Given the description of an element on the screen output the (x, y) to click on. 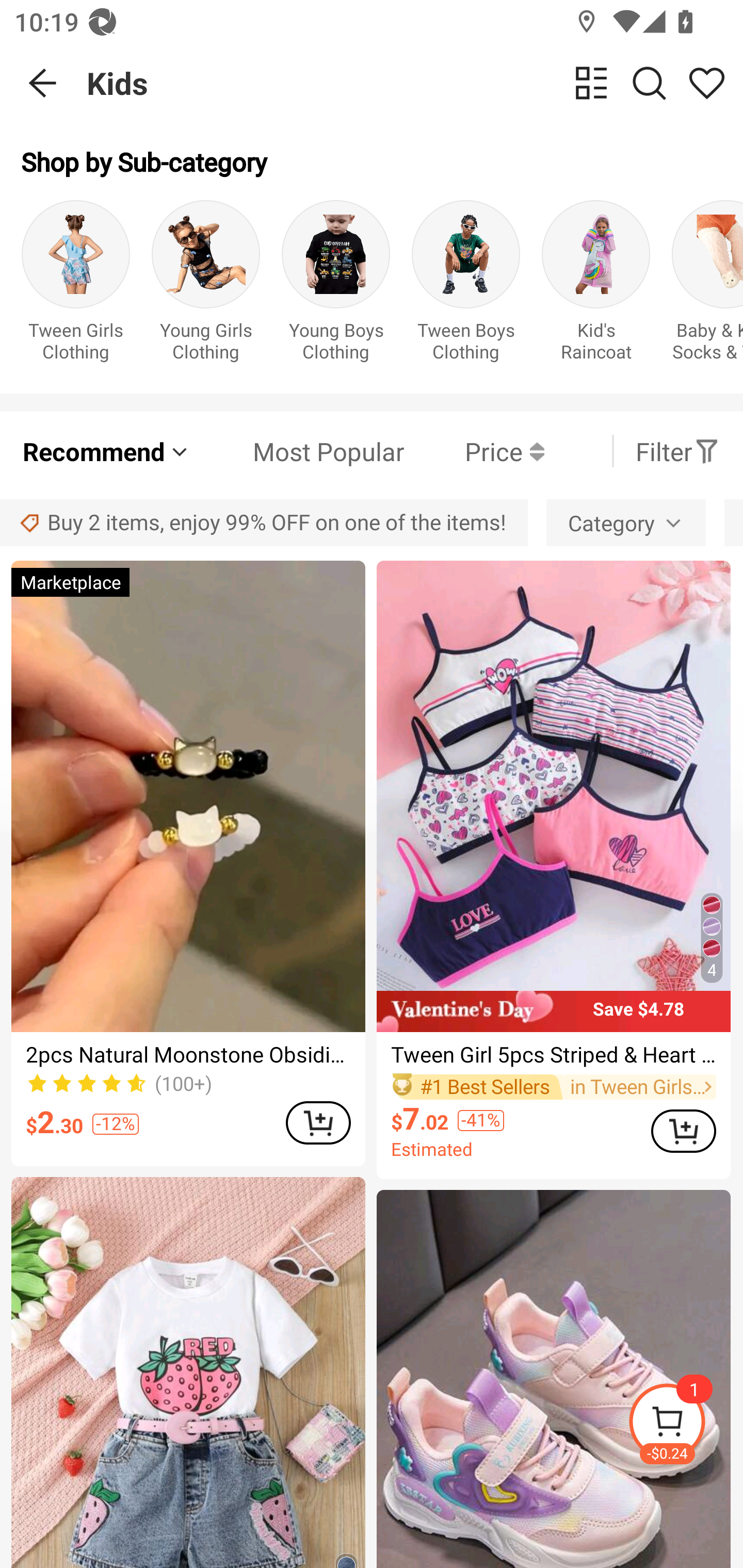
Kids change view Search Share (414, 82)
change view (591, 82)
Search (648, 82)
Share (706, 82)
Tween Girls Clothing (75, 285)
Young Girls Clothing (205, 285)
Young Boys Clothing (335, 285)
Tween Boys Clothing (465, 285)
Kid's Raincoat (595, 285)
Baby & Kids' Socks & Tights (707, 285)
Recommend (106, 450)
Most Popular (297, 450)
Price (474, 450)
Filter (677, 450)
Buy 2 items, enjoy 99% OFF on one of the items! (263, 521)
Category (625, 521)
#1 Best Sellers in Tween Girls Underwear (553, 1086)
ADD TO CART (318, 1122)
ADD TO CART (683, 1131)
Kids' Simple, Comfortable, Breathable Sports Shoes (553, 1379)
-$0.24 (685, 1424)
